Given the description of an element on the screen output the (x, y) to click on. 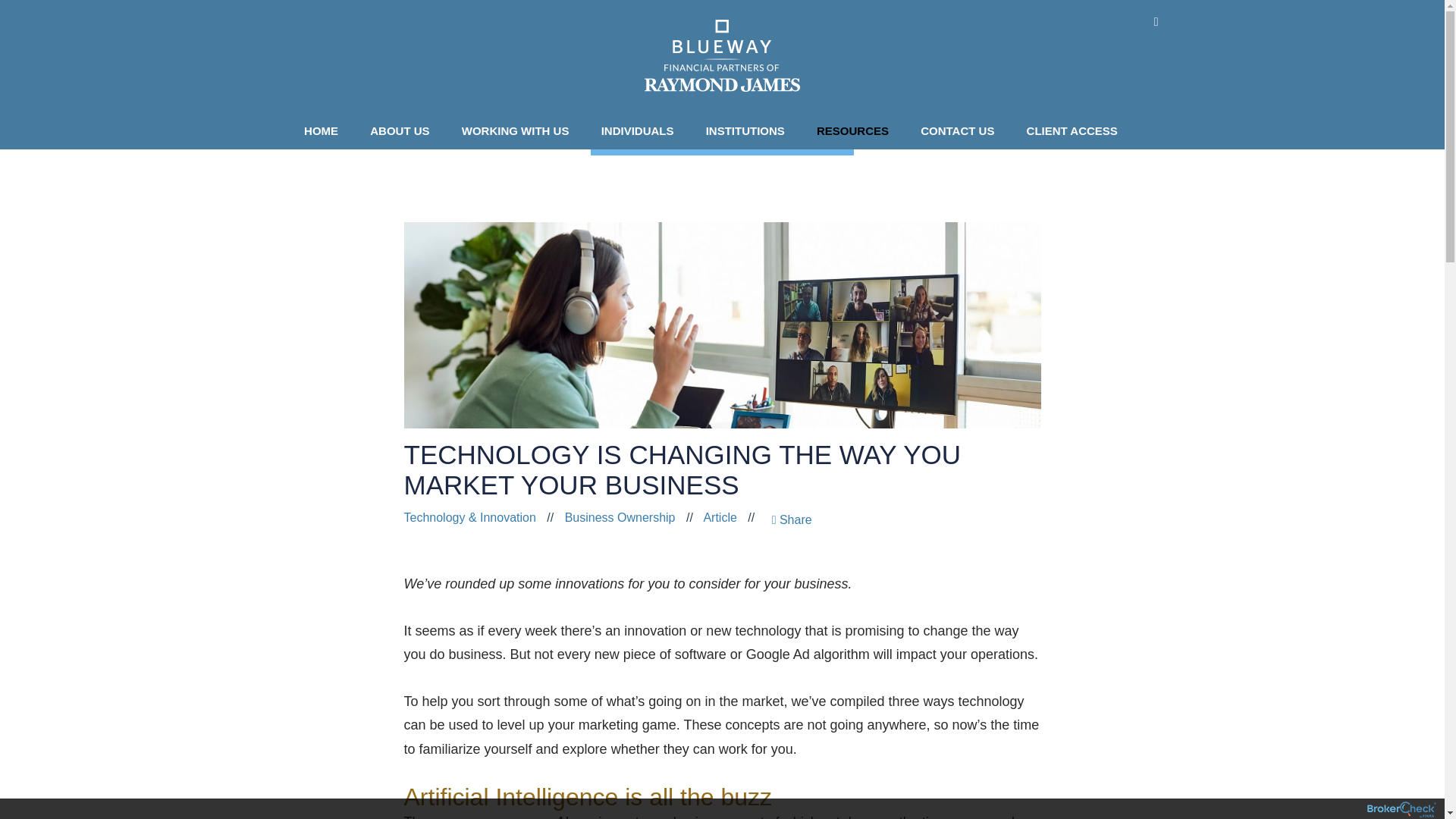
INSTITUTIONS (748, 130)
envelope (1156, 21)
WORKING WITH US (518, 130)
INDIVIDUALS (641, 130)
RESOURCES (856, 130)
ABOUT US (402, 130)
HOME (325, 130)
